Given the description of an element on the screen output the (x, y) to click on. 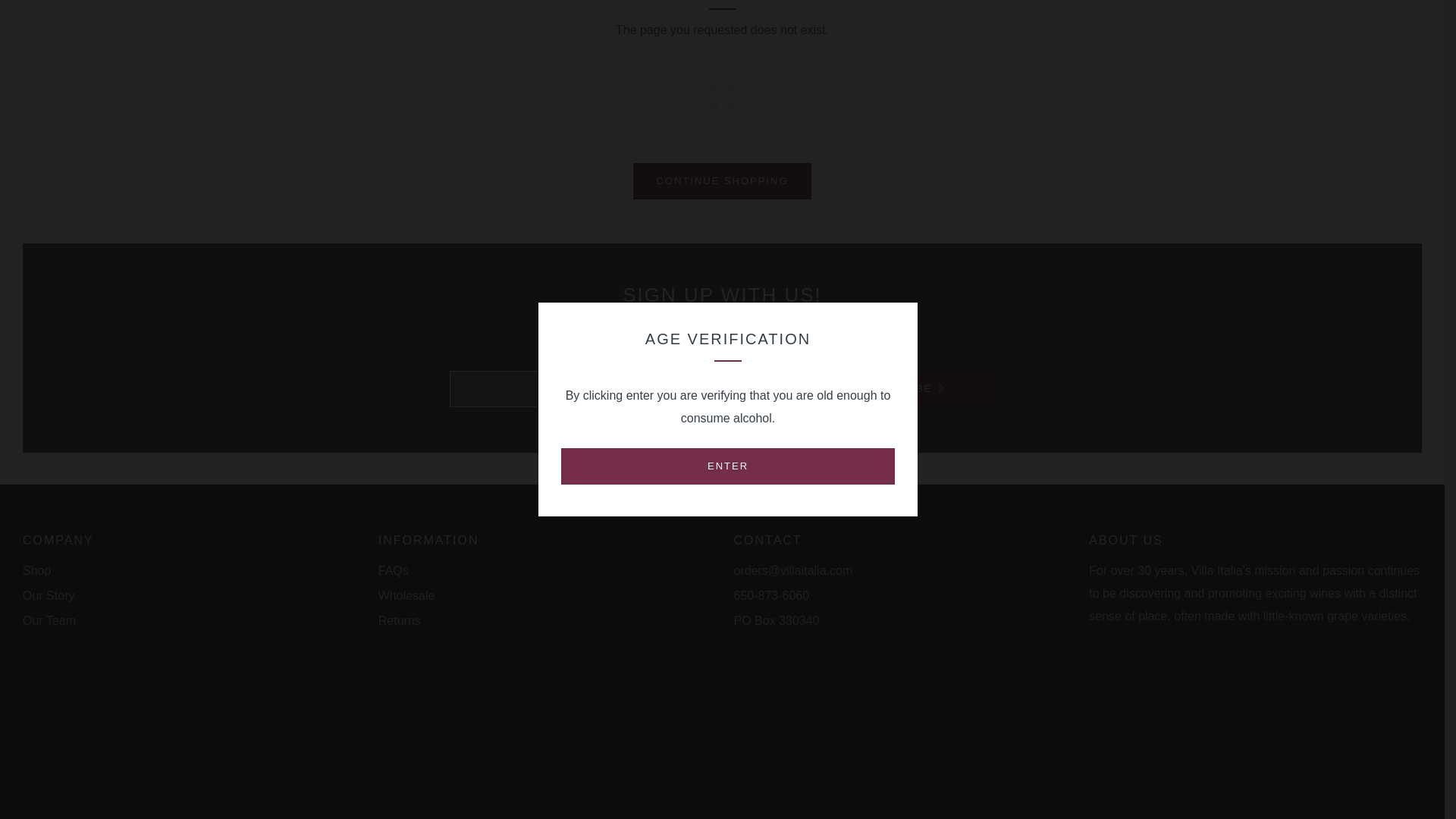
SUBSCRIBE (903, 389)
CONTINUE SHOPPING (721, 180)
ENTER (727, 266)
Our Story (48, 594)
Our Team (49, 620)
Shop (36, 570)
